Given the description of an element on the screen output the (x, y) to click on. 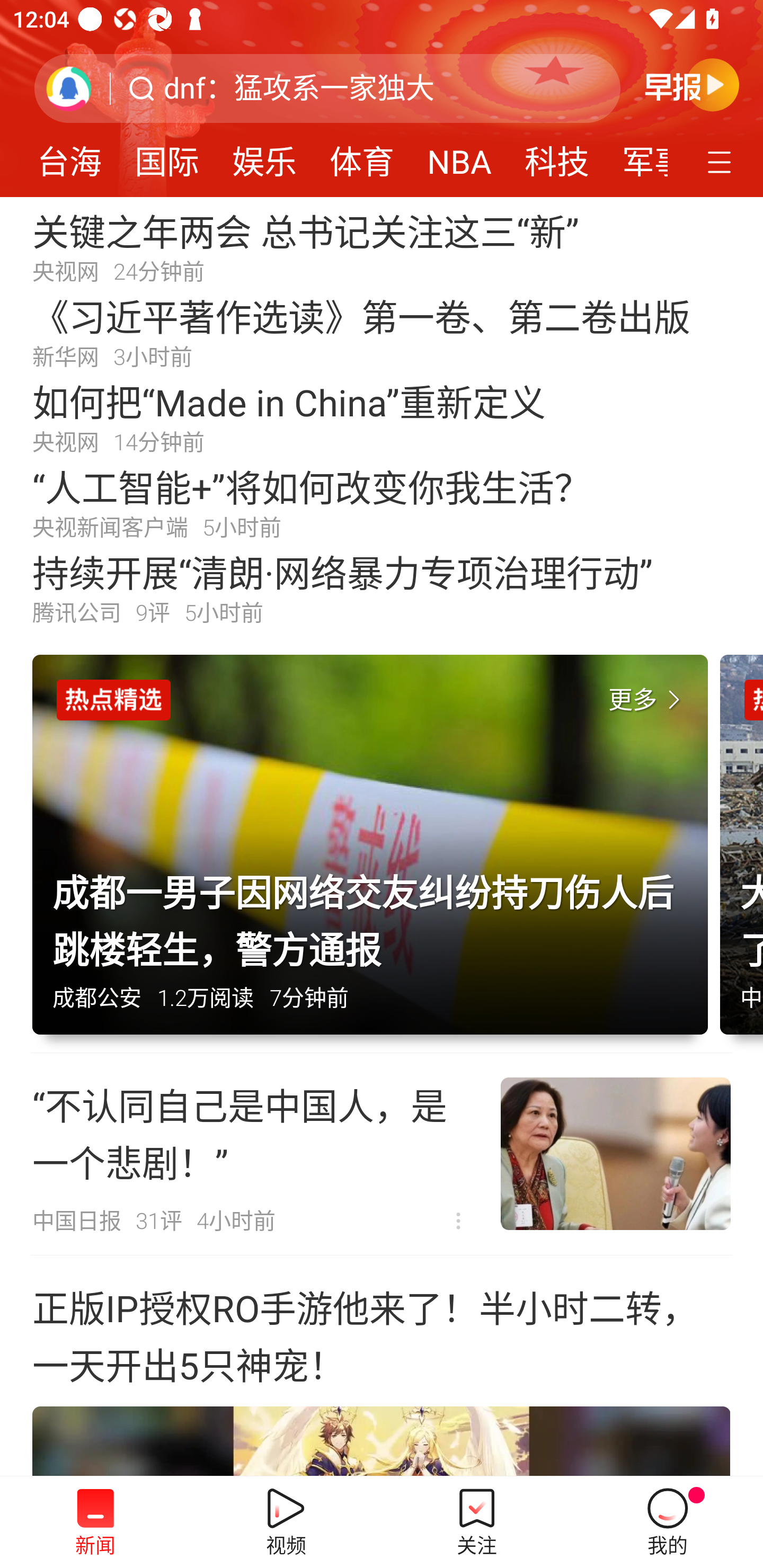
腾讯新闻 (381, 98)
早晚报 (691, 84)
刷新 (68, 88)
dnf：猛攻系一家独大 (299, 88)
台海 (69, 155)
国际 (166, 155)
娱乐 (263, 155)
体育 (361, 155)
NBA (459, 155)
科技 (556, 155)
 定制频道 (721, 160)
关键之年两会 总书记关注这三“新” 央视网 24分钟前 (381, 245)
《习近平著作选读》第一卷、第二卷出版 新华网 3小时前 (381, 331)
如何把“Made in China”重新定义 央视网 14分钟前 (381, 416)
“人工智能+”将如何改变你我生活？ 央视新闻客户端 5小时前 (381, 502)
持续开展“清朗·网络暴力专项治理行动” 腾讯公司 9评 5小时前 (381, 587)
更多  (648, 699)
“不认同自己是中国人，是一个悲剧！” 中国日报 31评 4小时前  不感兴趣 (381, 1153)
 不感兴趣 (458, 1221)
正版IP授权RO手游他来了！半小时二转，一天开出5只神宠！ (381, 1366)
